Given the description of an element on the screen output the (x, y) to click on. 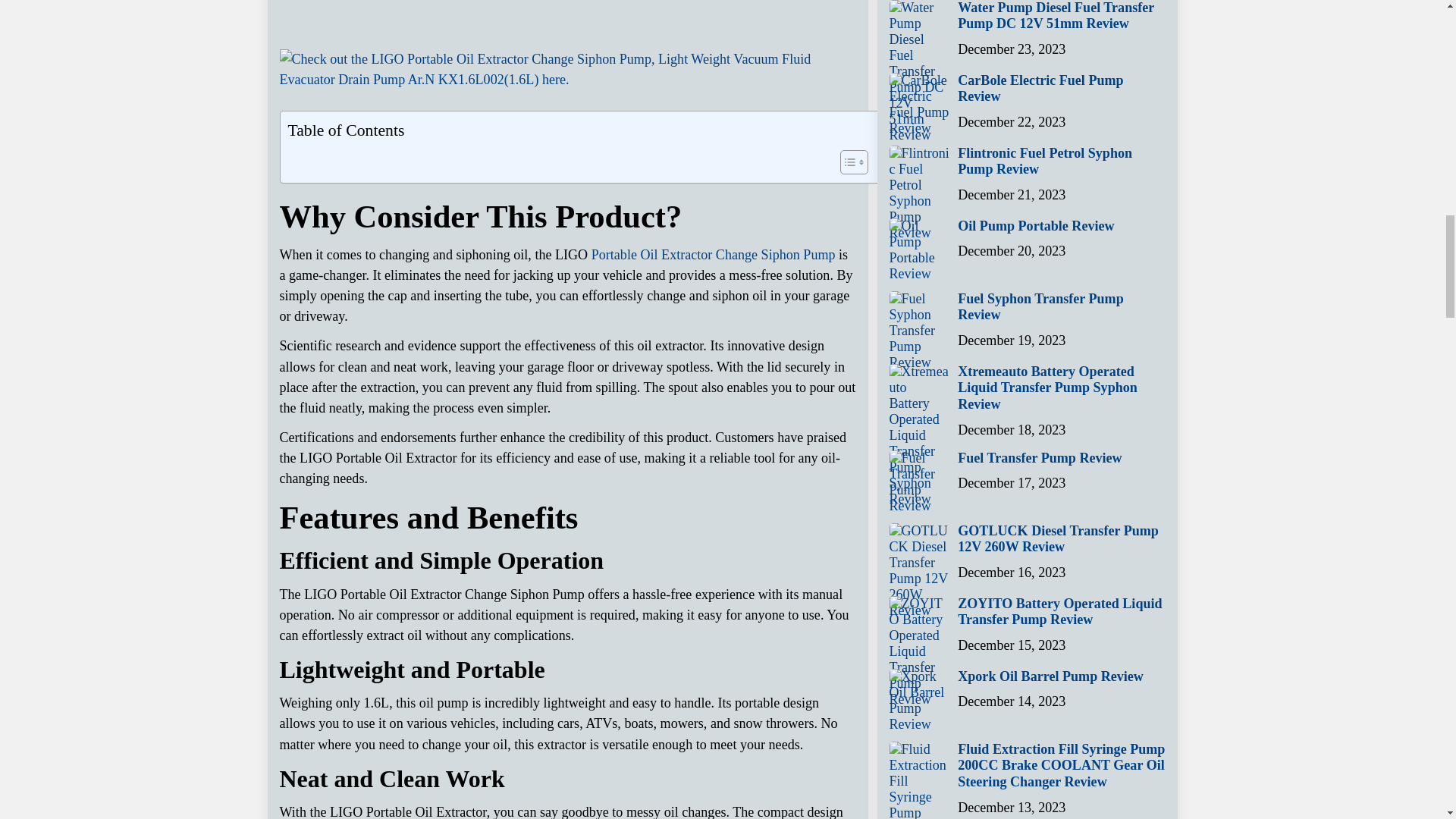
Portable Oil Extractor Change Siphon Pump (713, 254)
